Given the description of an element on the screen output the (x, y) to click on. 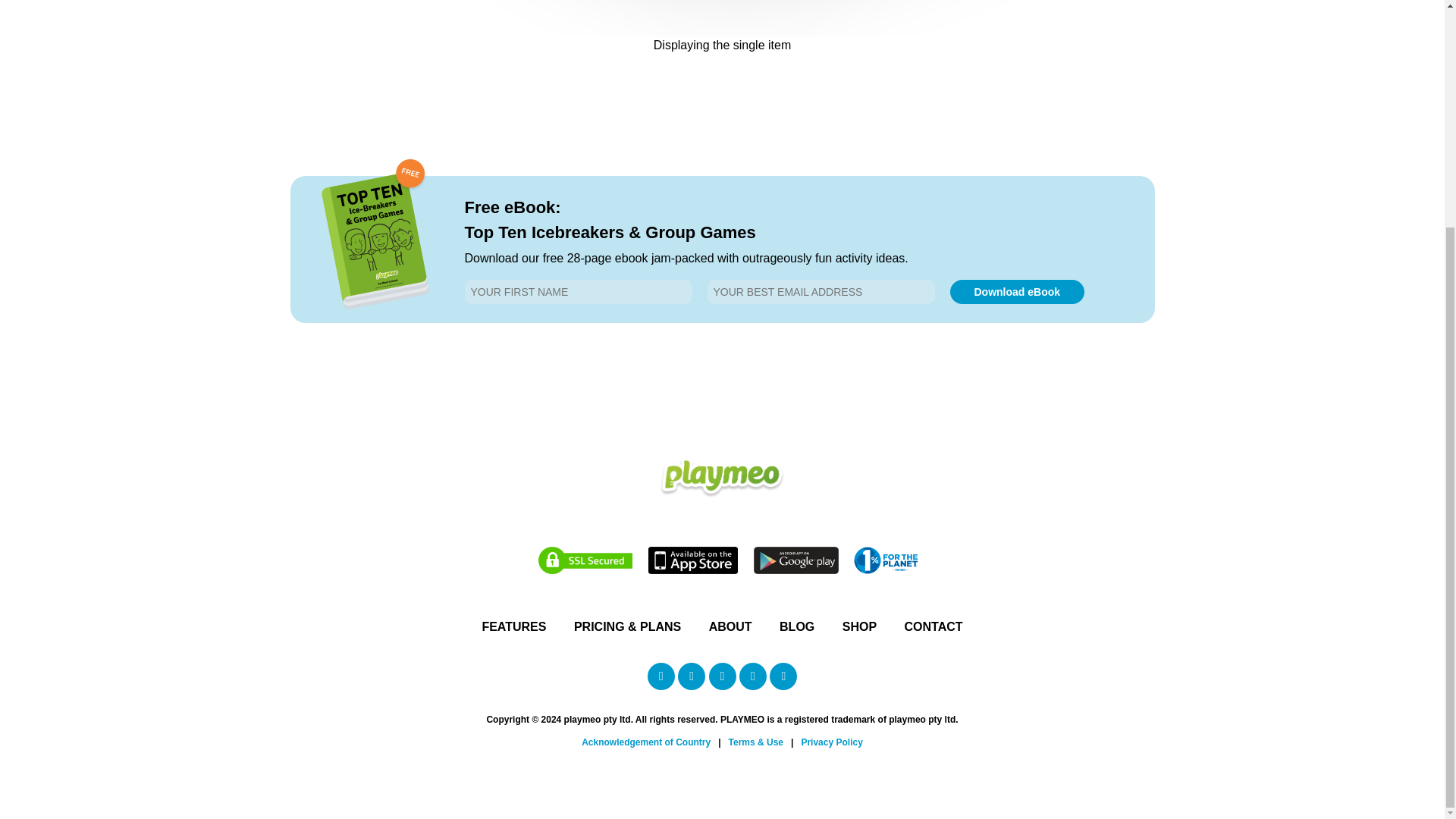
Download eBook (1016, 291)
